Given the description of an element on the screen output the (x, y) to click on. 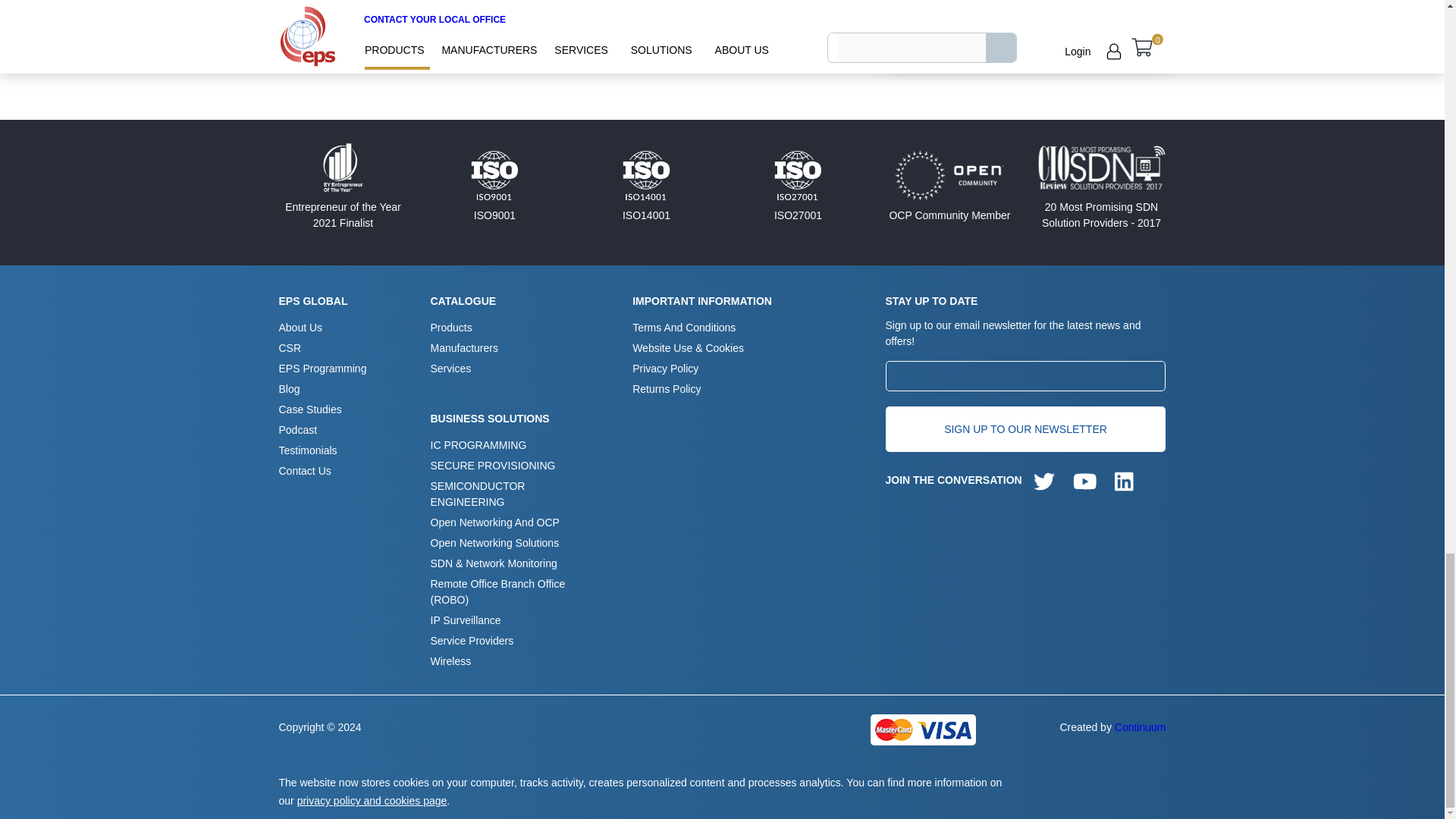
sign up to our newsletter (1025, 429)
